Given the description of an element on the screen output the (x, y) to click on. 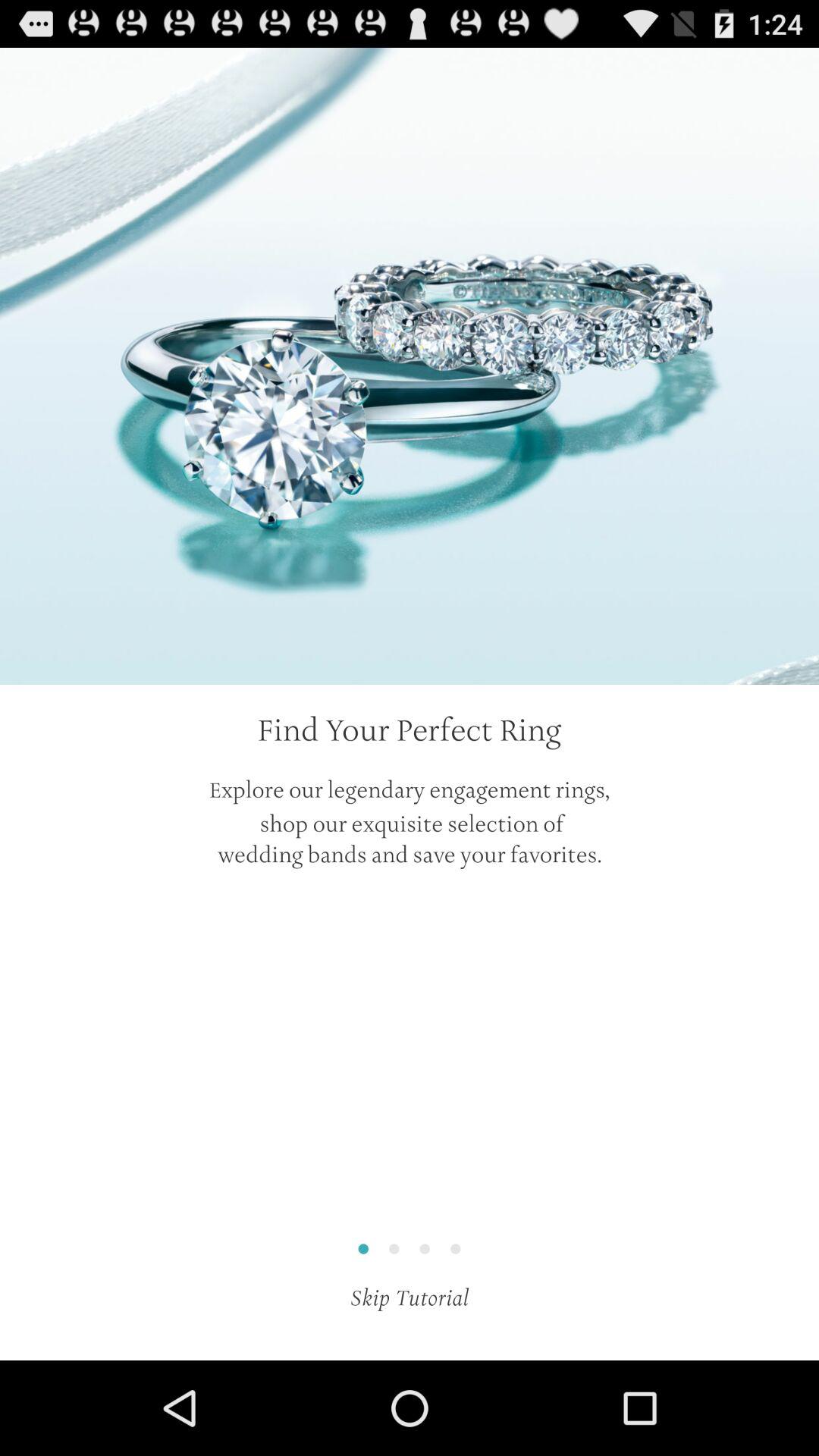
flip to the skip tutorial (409, 1297)
